Given the description of an element on the screen output the (x, y) to click on. 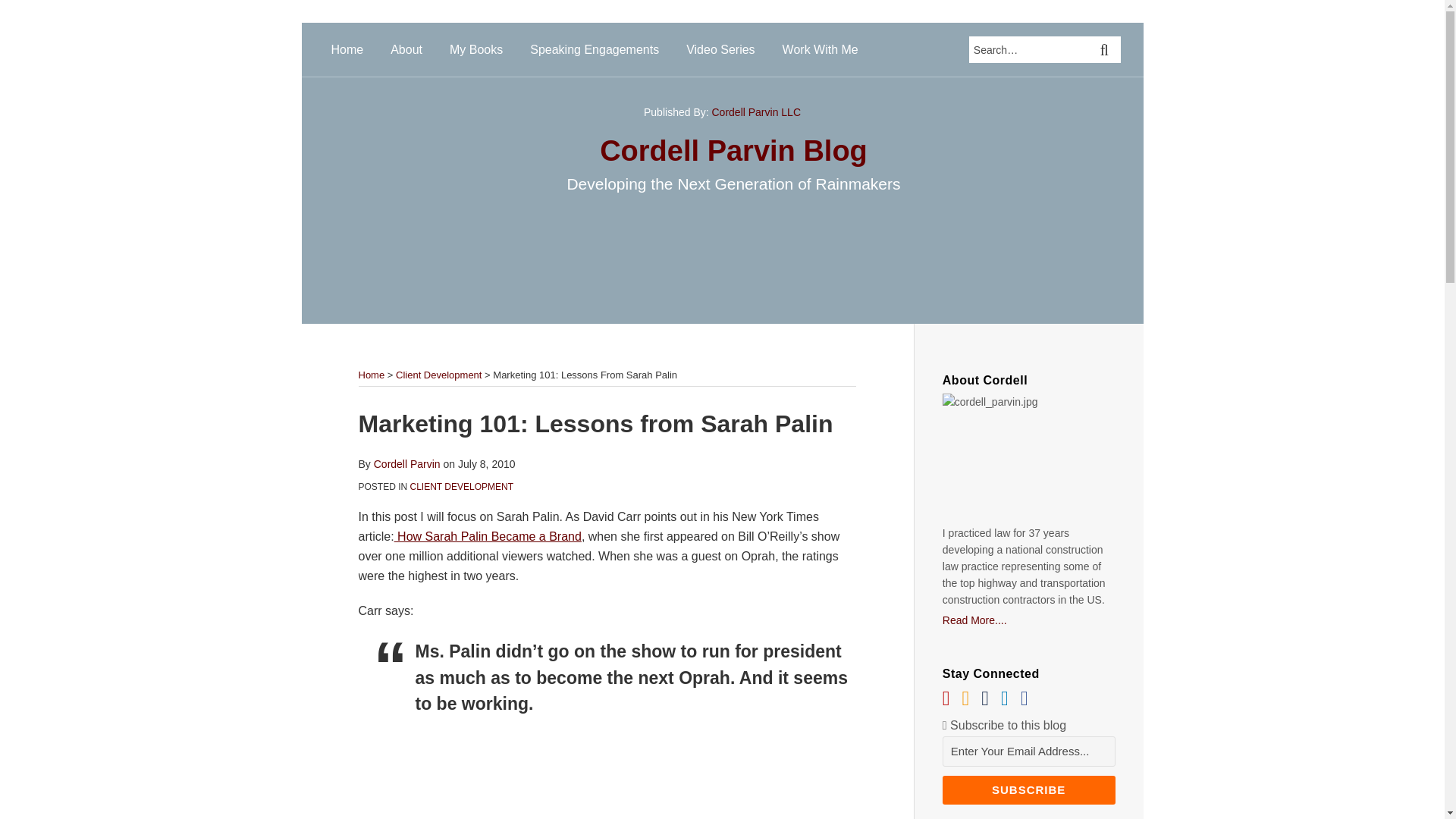
Speaking Engagements (594, 49)
Join My Facebook Coaching Page (1023, 698)
Video (719, 49)
Client Development (438, 374)
My Books (475, 49)
About (406, 49)
Subscribe (1028, 789)
Home (371, 374)
Cordell Parvin (407, 463)
Home (346, 49)
Video Series (719, 49)
My Books (475, 49)
Cordell Parvin LLC (755, 111)
CLIENT DEVELOPMENT (461, 486)
How Sarah Palin Became a Brand (487, 535)
